Given the description of an element on the screen output the (x, y) to click on. 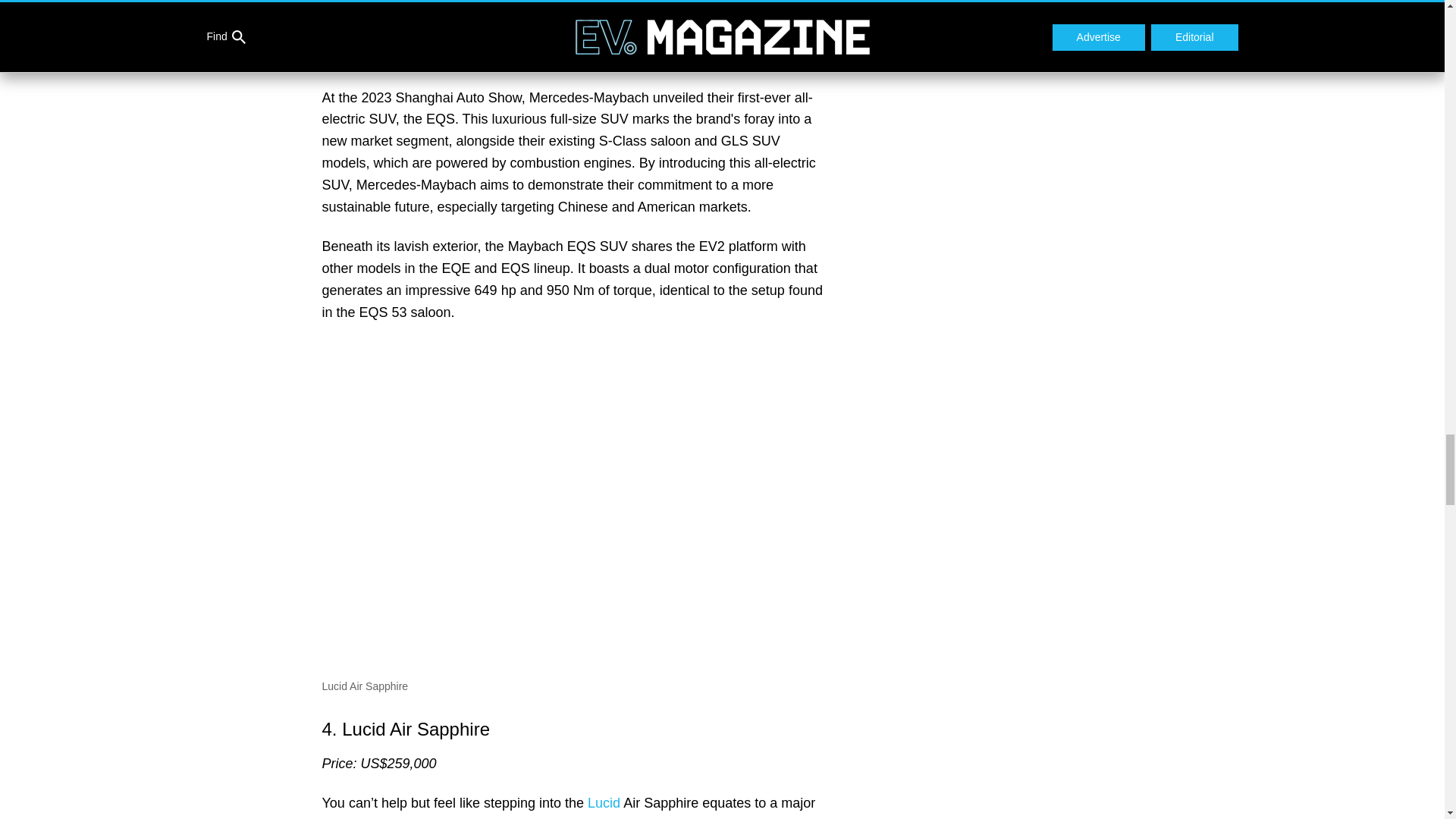
Lucid (604, 802)
